Given the description of an element on the screen output the (x, y) to click on. 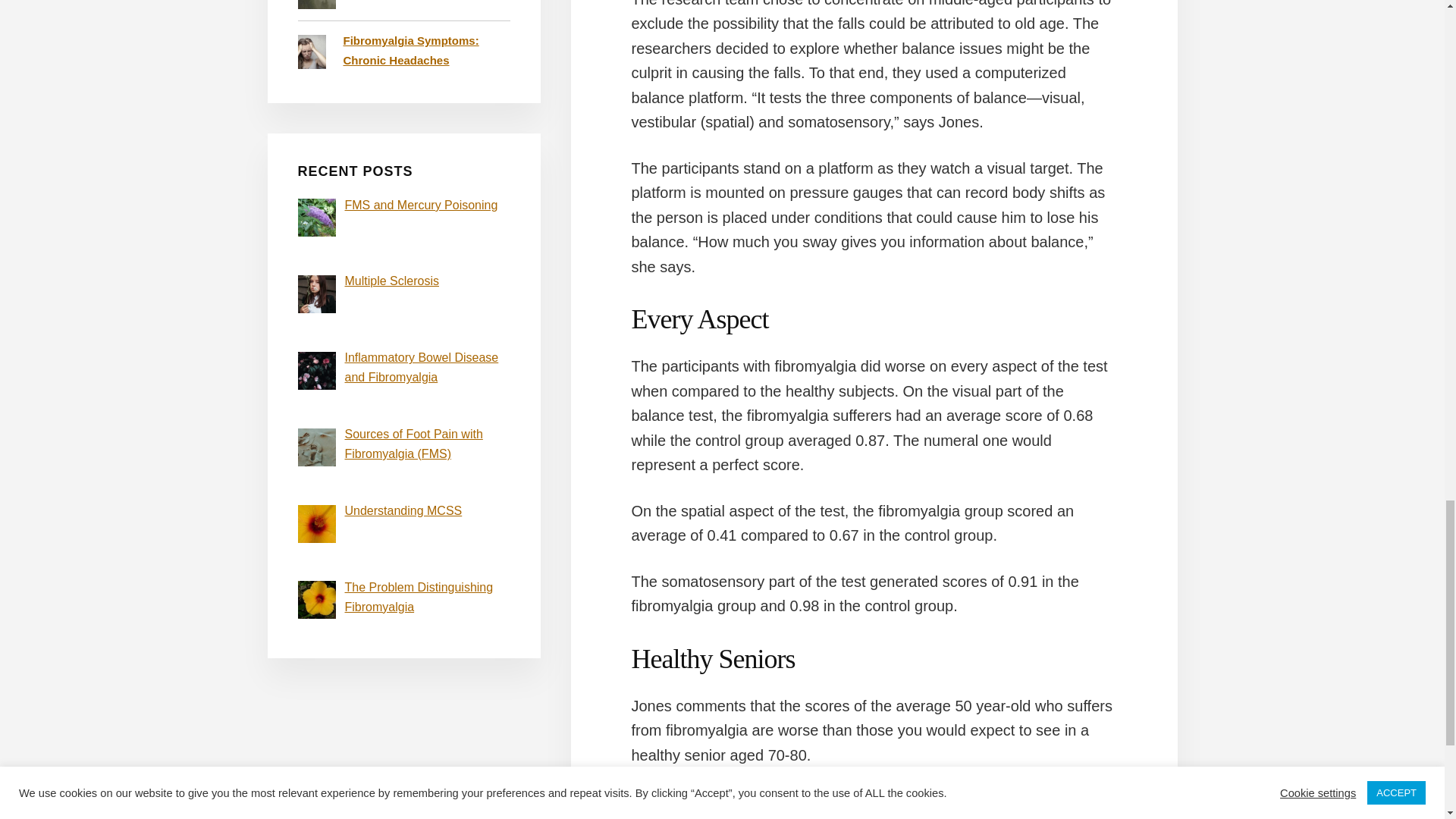
Multiple Sclerosis (390, 280)
Inflammatory Bowel Disease and Fibromyalgia (420, 367)
Understanding MCSS (402, 510)
Fibromyalgia Symptoms: Chronic Headaches (410, 50)
FMS and Mercury Poisoning (420, 205)
